Given the description of an element on the screen output the (x, y) to click on. 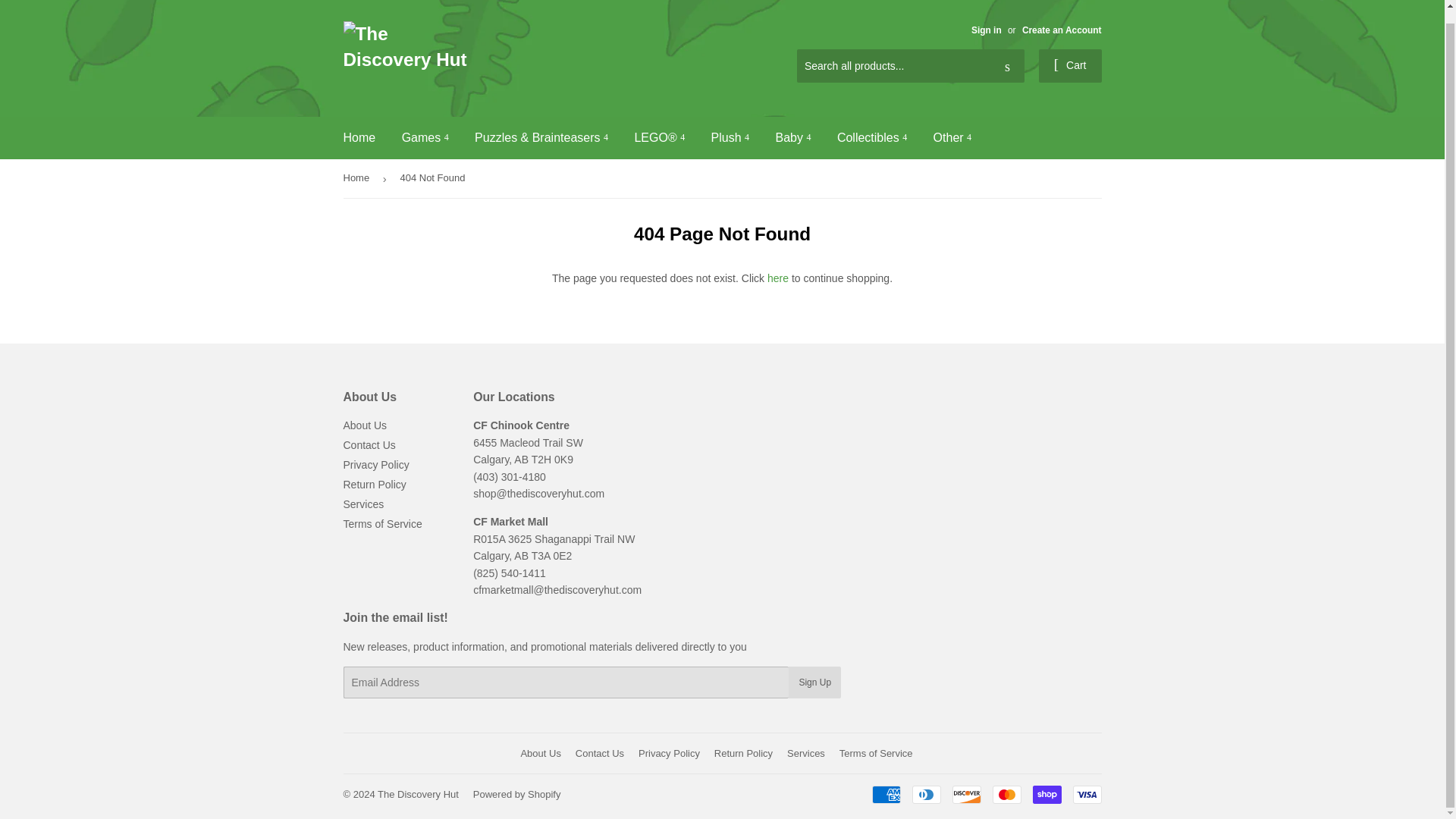
Discover (966, 794)
American Express (886, 794)
Diners Club (925, 794)
Cart (1070, 65)
Sign in (986, 30)
Shop Pay (1046, 794)
Mastercard (1005, 794)
Create an Account (1062, 30)
Search (1007, 66)
Visa (1085, 794)
